Given the description of an element on the screen output the (x, y) to click on. 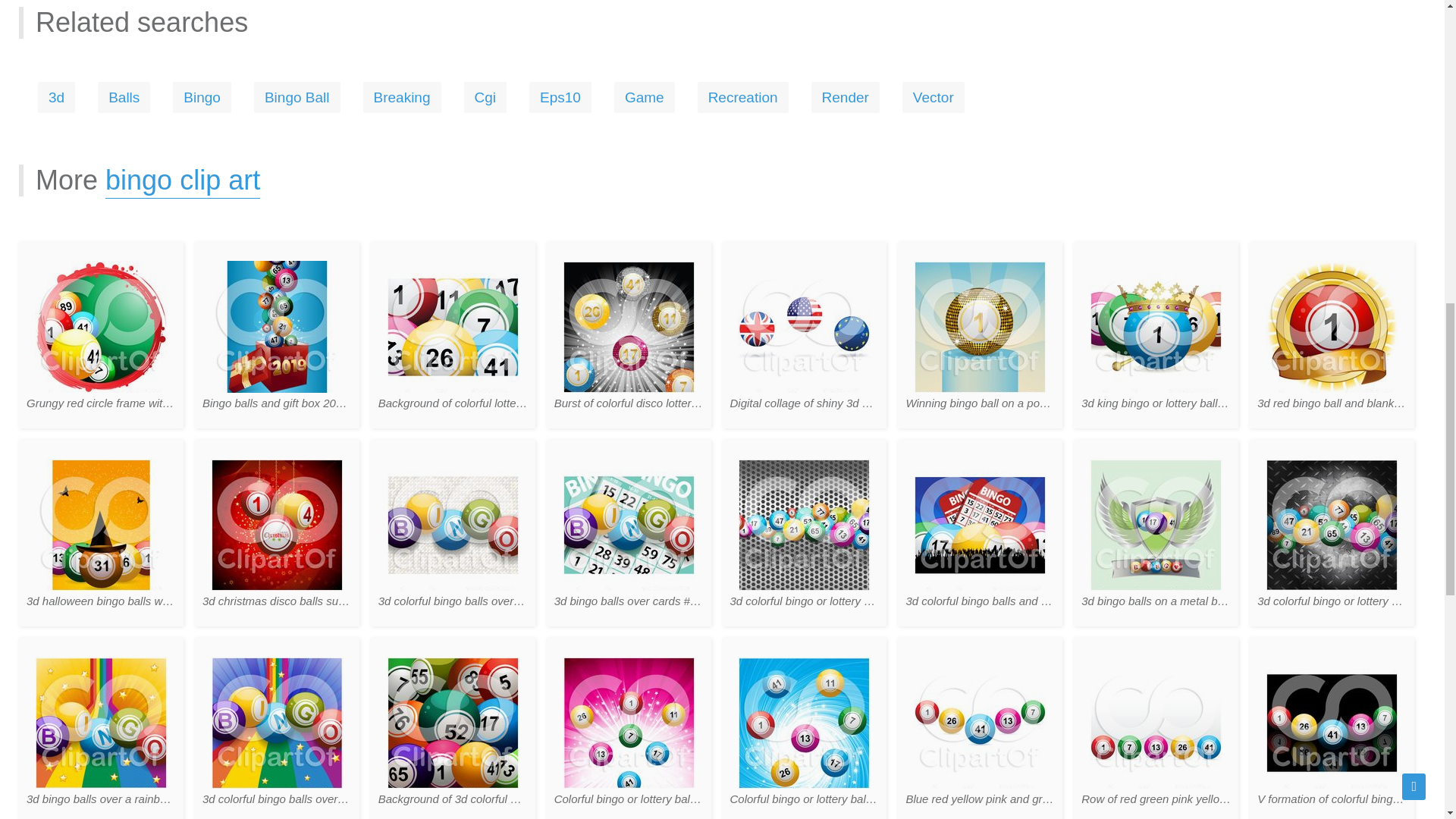
bingo clip art (182, 181)
Bingo Ball (296, 97)
Eps10 (560, 97)
3d (56, 97)
Vector (932, 97)
Render (844, 97)
Bingo (202, 97)
Cgi (485, 97)
Balls (123, 97)
Recreation (743, 97)
Game (644, 97)
Breaking (401, 97)
